Given the description of an element on the screen output the (x, y) to click on. 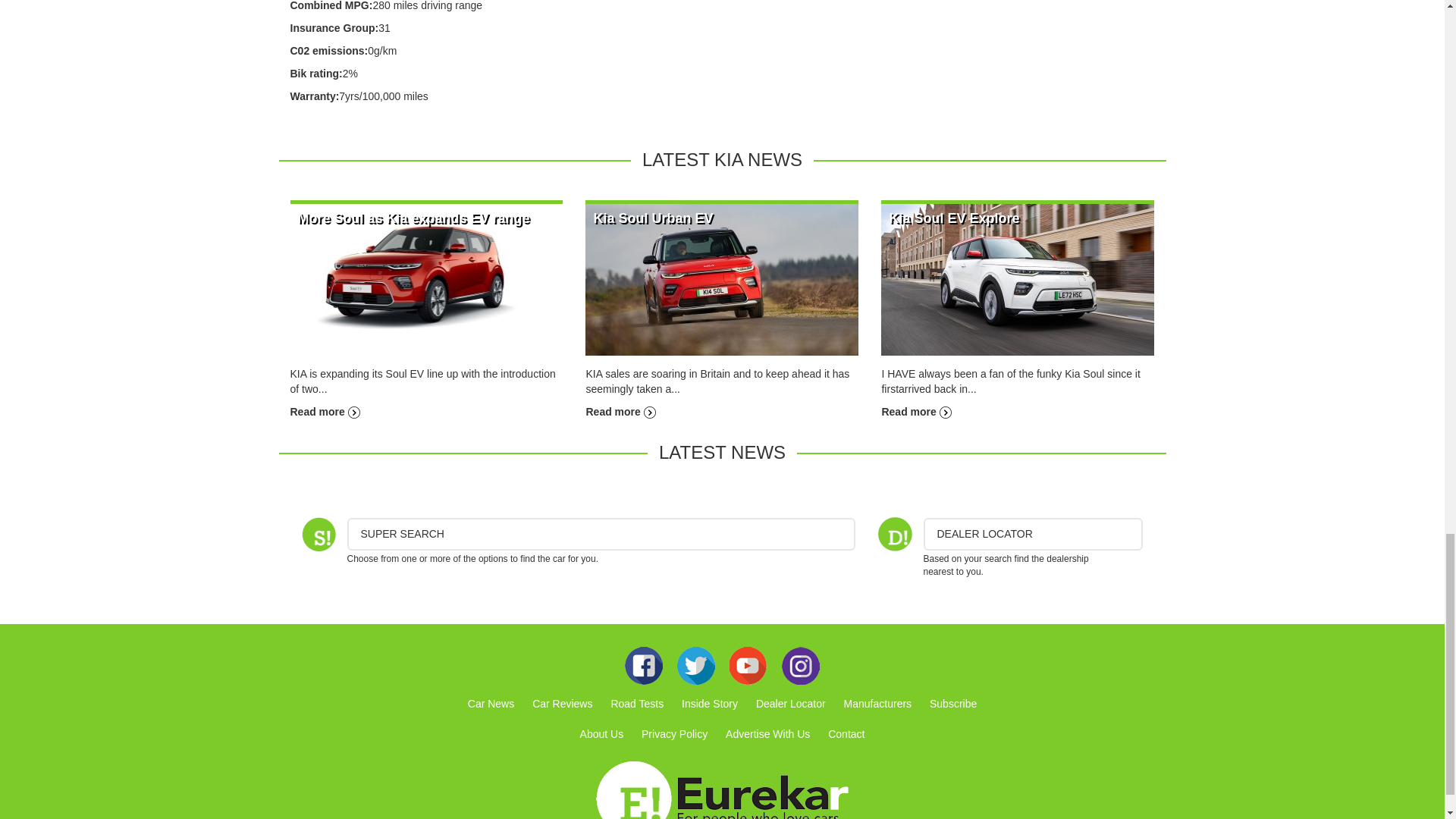
More Soul as Kia expands EV range (425, 278)
Kia Soul Urban EV (620, 411)
Kia Soul Urban EV (652, 218)
Kia Soul EV Explore (915, 411)
Kia Soul EV Explore (953, 218)
DEALER LOCATOR (1032, 533)
Read more (324, 411)
Read more (915, 411)
Kia Soul EV Explore (1017, 278)
Kia Soul Urban EV (722, 278)
SUPER SEARCH (601, 533)
More Soul as Kia expands EV range (413, 218)
Read more (620, 411)
Kia Soul EV Explore (953, 218)
More Soul as Kia expands EV range (413, 218)
